Given the description of an element on the screen output the (x, y) to click on. 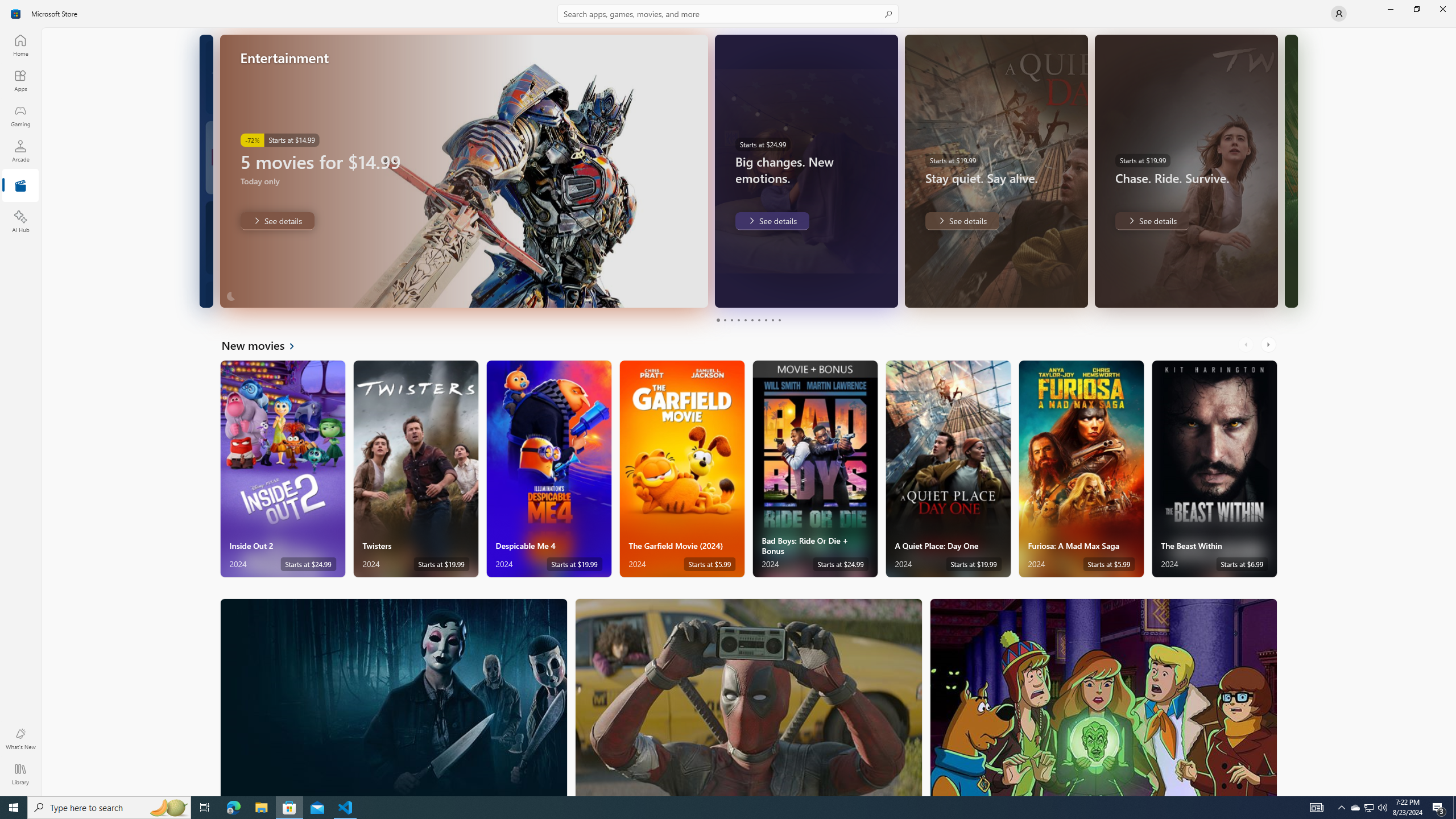
Page 4 (738, 319)
Page 2 (724, 319)
AutomationID: RightScrollButton (1269, 344)
AutomationID: LeftScrollButton (1246, 344)
Minimize Microsoft Store (1390, 9)
The Beast Within. Starts at $6.99   (1213, 469)
Home (20, 45)
Entertainment (20, 185)
Action & Adventure (749, 697)
Horror (393, 697)
Page 3 (731, 319)
Family (1102, 697)
AutomationID: PosterImage (1103, 697)
See all  New movies (264, 345)
AutomationID: NavigationControl (728, 398)
